Given the description of an element on the screen output the (x, y) to click on. 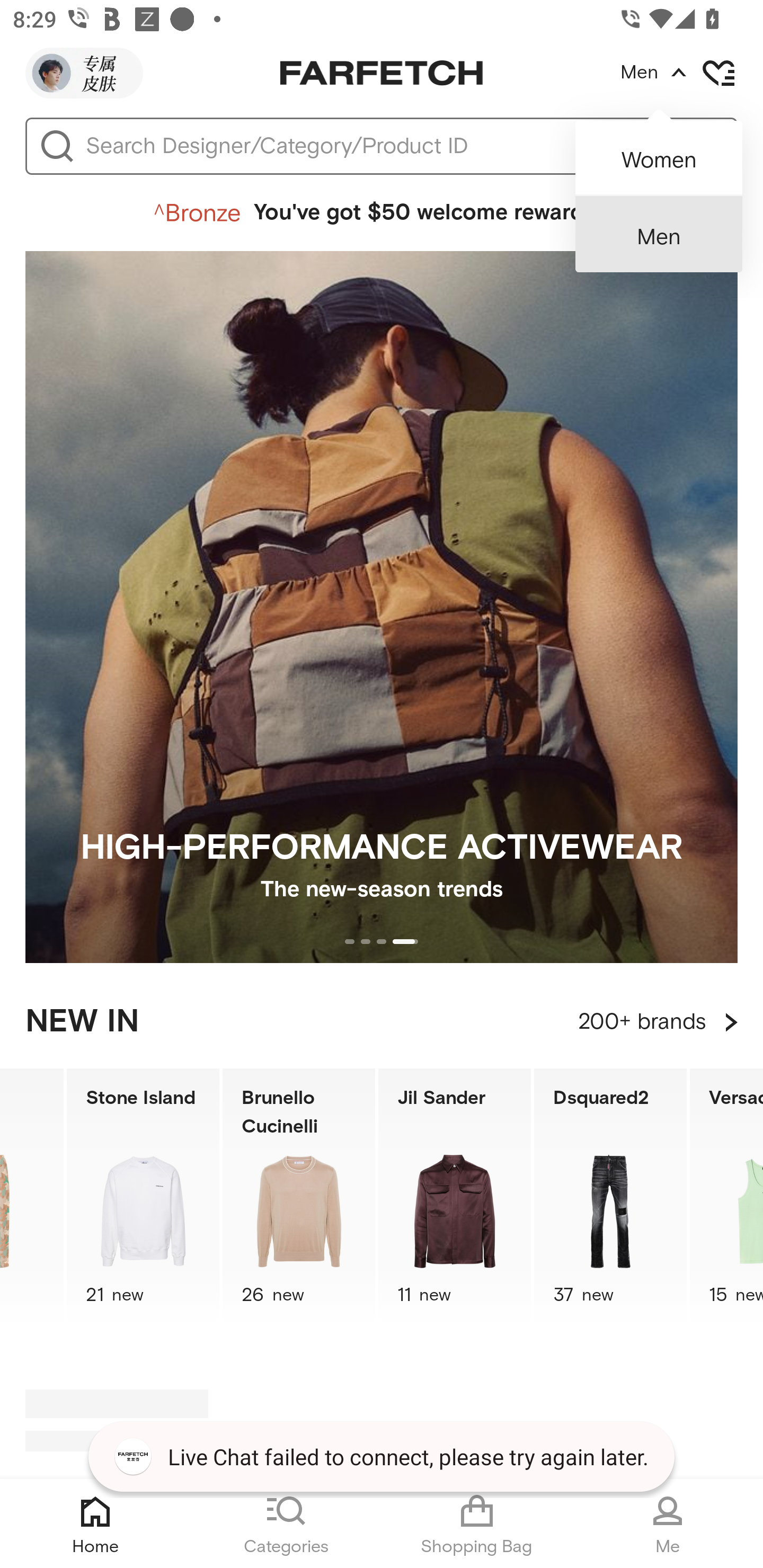
Women (658, 151)
Men (658, 234)
